Given the description of an element on the screen output the (x, y) to click on. 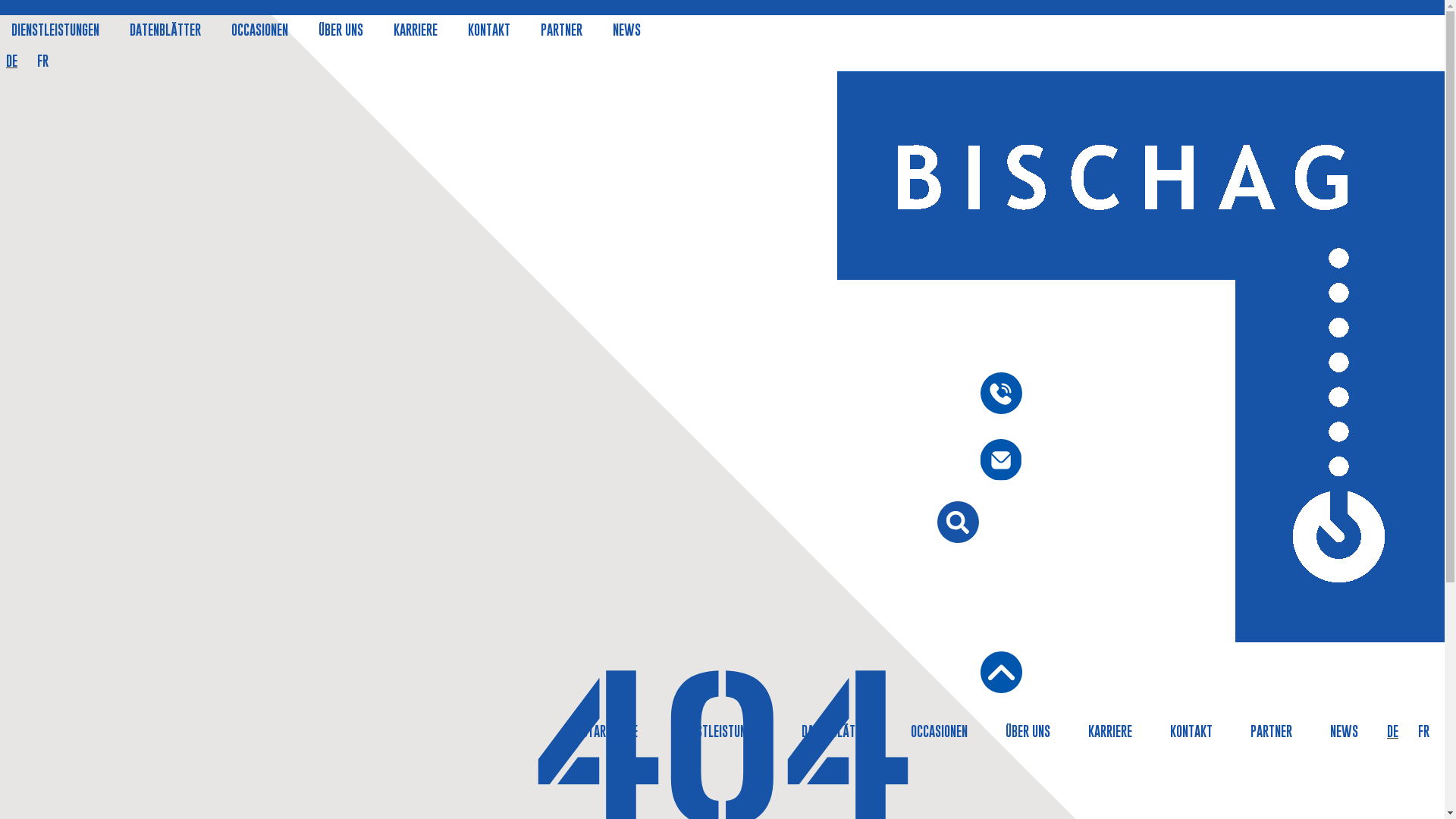
PARTNER Element type: text (561, 30)
KARRIERE Element type: text (415, 30)
DE Element type: text (11, 60)
KONTAKT Element type: text (488, 30)
FR Element type: text (42, 60)
KARRIERE Element type: text (1110, 730)
OCCASIONEN Element type: text (938, 730)
STARTSEITE Element type: text (609, 730)
KONTAKT Element type: text (1190, 730)
OCCASIONEN Element type: text (259, 30)
DIENSTLEISTUNGEN Element type: text (55, 30)
FR Element type: text (1423, 730)
NEWS Element type: text (1343, 730)
DIENSTLEISTUNGEN Element type: text (719, 730)
PARTNER Element type: text (1271, 730)
NEWS Element type: text (626, 30)
DE Element type: text (1392, 730)
